Given the description of an element on the screen output the (x, y) to click on. 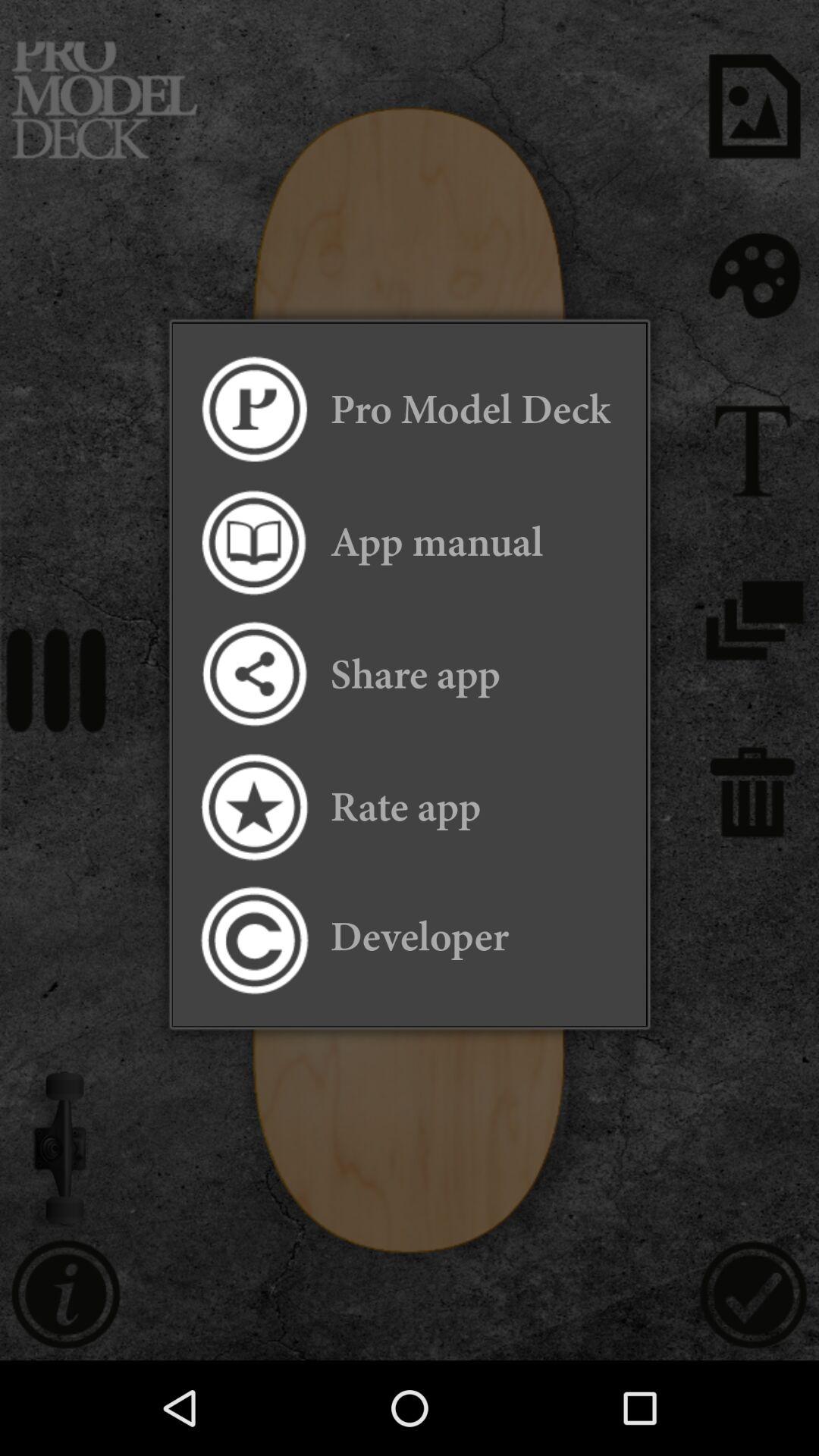
choose the app to the left of the pro model deck app (253, 409)
